Given the description of an element on the screen output the (x, y) to click on. 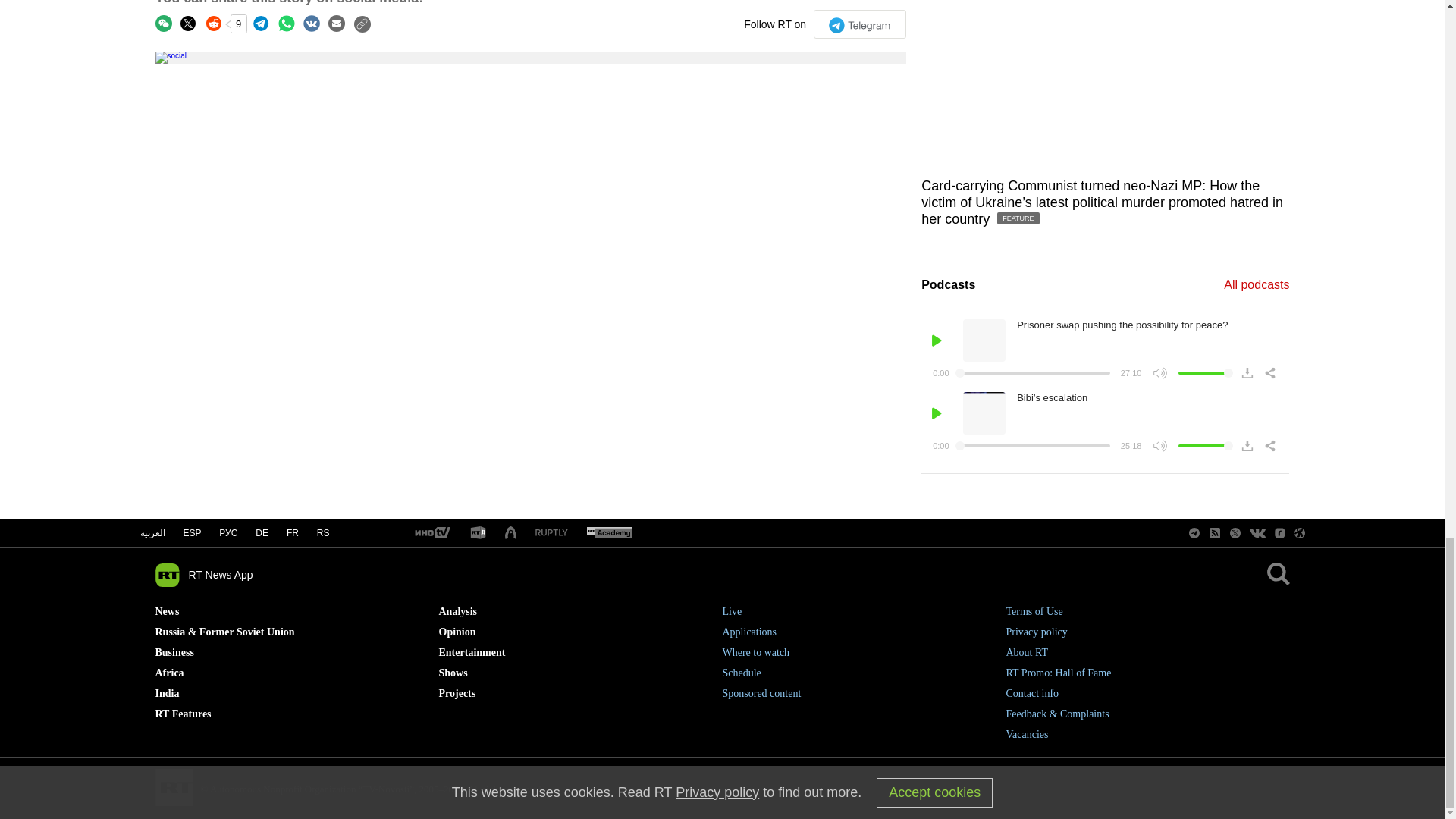
RT  (551, 533)
RT  (431, 533)
RT  (478, 533)
RT  (608, 533)
